Given the description of an element on the screen output the (x, y) to click on. 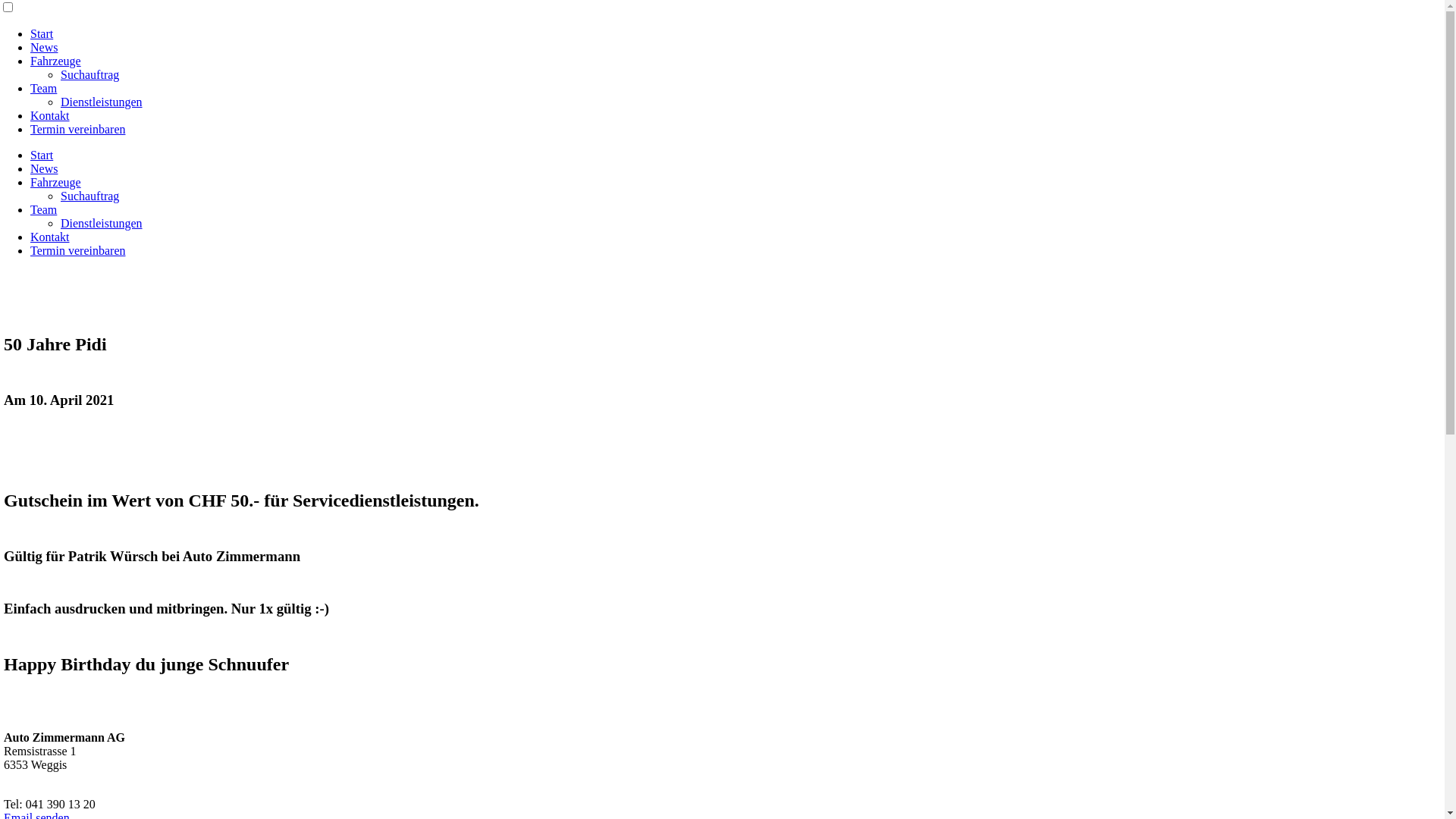
Start Element type: text (41, 154)
News Element type: text (43, 46)
Kontakt Element type: text (49, 236)
Kontakt Element type: text (49, 115)
Team Element type: text (43, 209)
Suchauftrag Element type: text (89, 195)
News Element type: text (43, 168)
Fahrzeuge Element type: text (55, 181)
Termin vereinbaren Element type: text (77, 250)
Termin vereinbaren Element type: text (77, 128)
Start Element type: text (41, 33)
Dienstleistungen Element type: text (101, 222)
Dienstleistungen Element type: text (101, 101)
Team Element type: text (43, 87)
Fahrzeuge Element type: text (55, 60)
Suchauftrag Element type: text (89, 74)
